Given the description of an element on the screen output the (x, y) to click on. 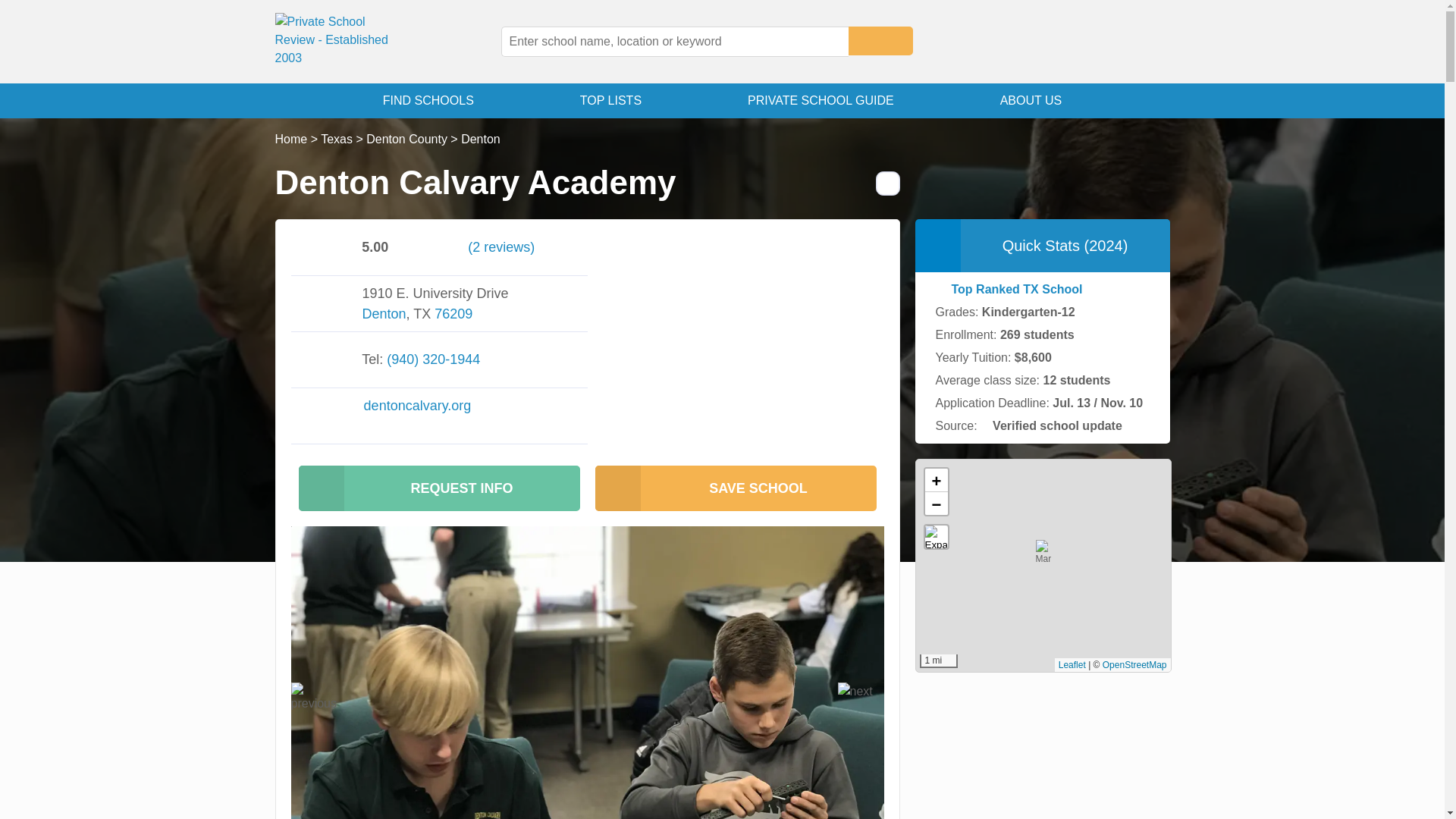
Private School Review - Established 2003 (339, 41)
FIND SCHOOLS (428, 100)
PRIVATE SCHOOL GUIDE (820, 100)
Denton (480, 138)
SAVE SCHOOL (735, 488)
ABOUT US (1031, 100)
Denton (383, 313)
dentoncalvary.org (476, 405)
Home (291, 138)
Texas (336, 138)
